Given the description of an element on the screen output the (x, y) to click on. 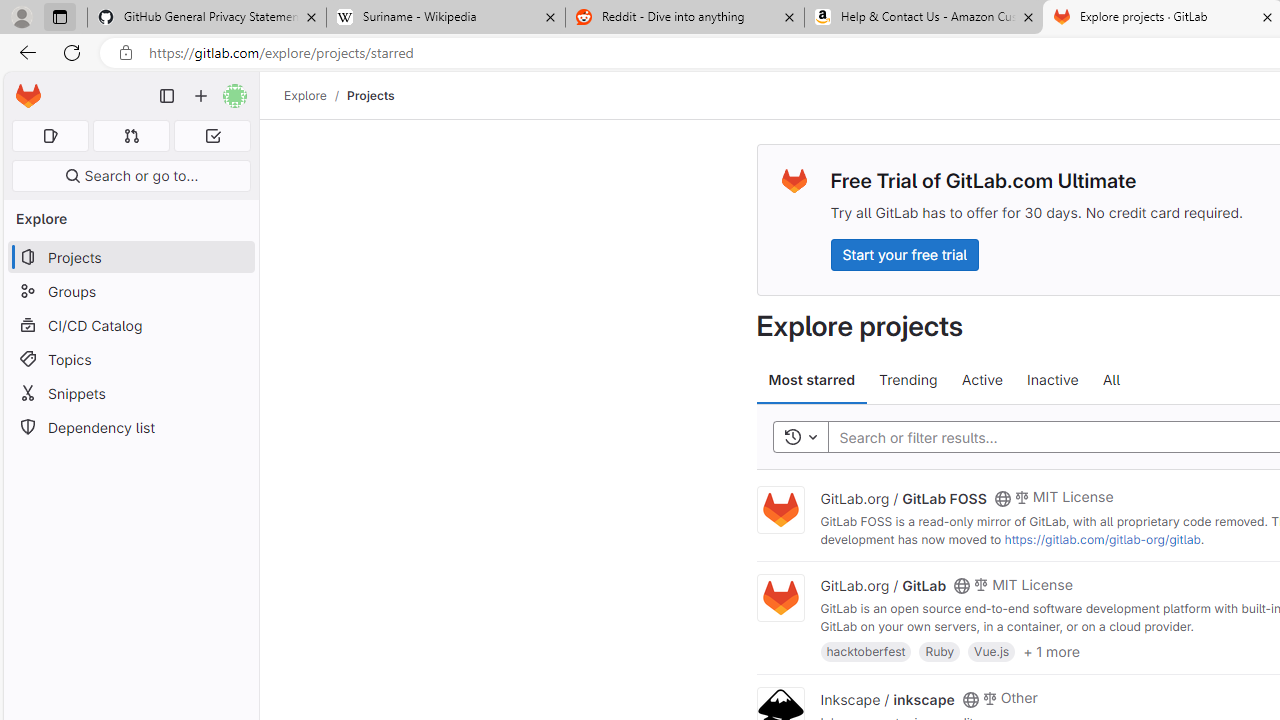
Create new... (201, 96)
Projects (370, 95)
Active (982, 379)
Explore/ (316, 95)
Merge requests 0 (131, 136)
Class: project (780, 597)
Vue.js (991, 650)
Snippets (130, 393)
Start your free trial (904, 254)
Assigned issues 0 (50, 136)
GitLab.org / GitLab FOSS (903, 497)
